Given the description of an element on the screen output the (x, y) to click on. 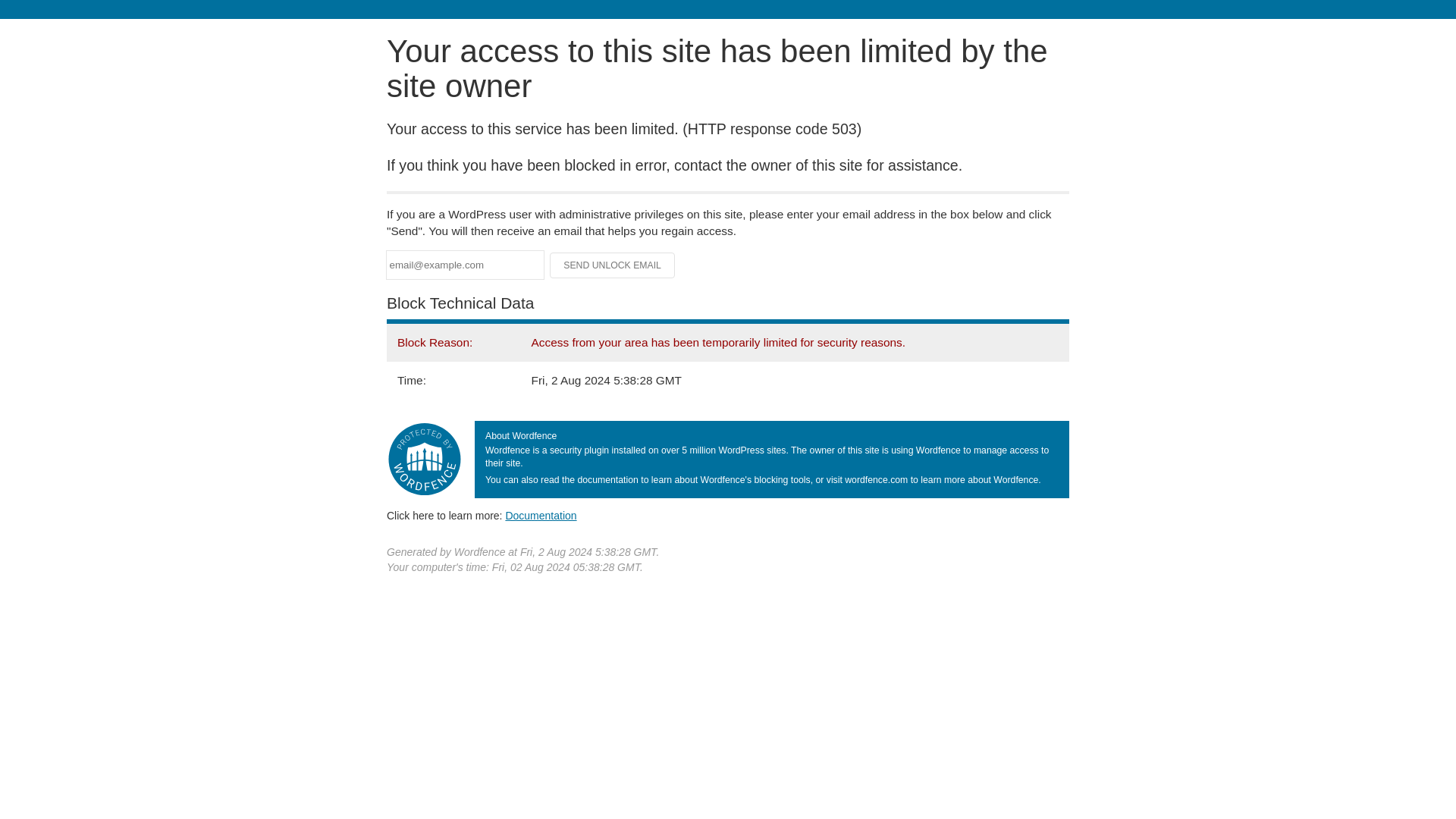
Send Unlock Email (612, 265)
Documentation (540, 515)
Send Unlock Email (612, 265)
